Given the description of an element on the screen output the (x, y) to click on. 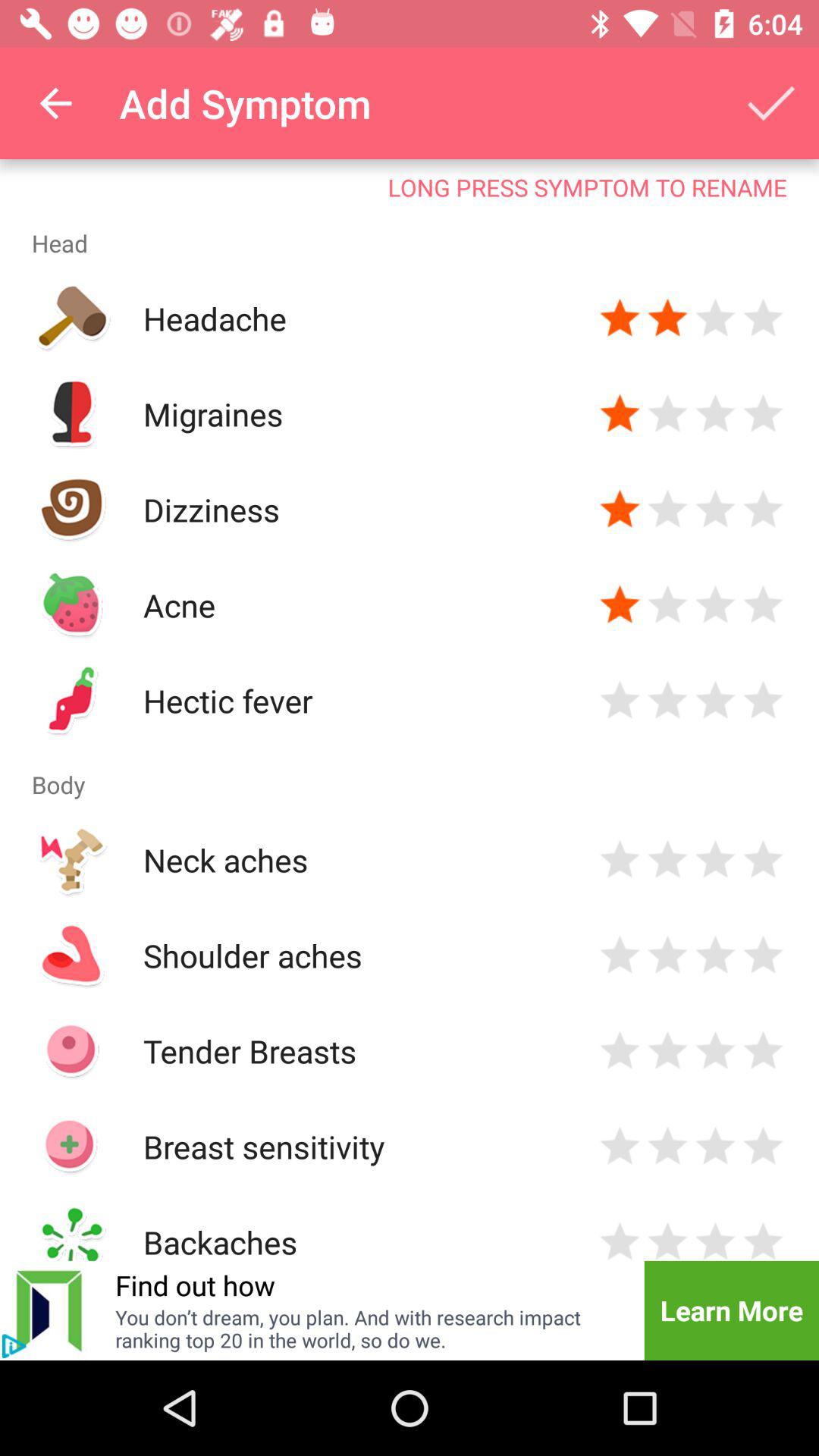
amount user suffers from symptom backaches (619, 1239)
